Given the description of an element on the screen output the (x, y) to click on. 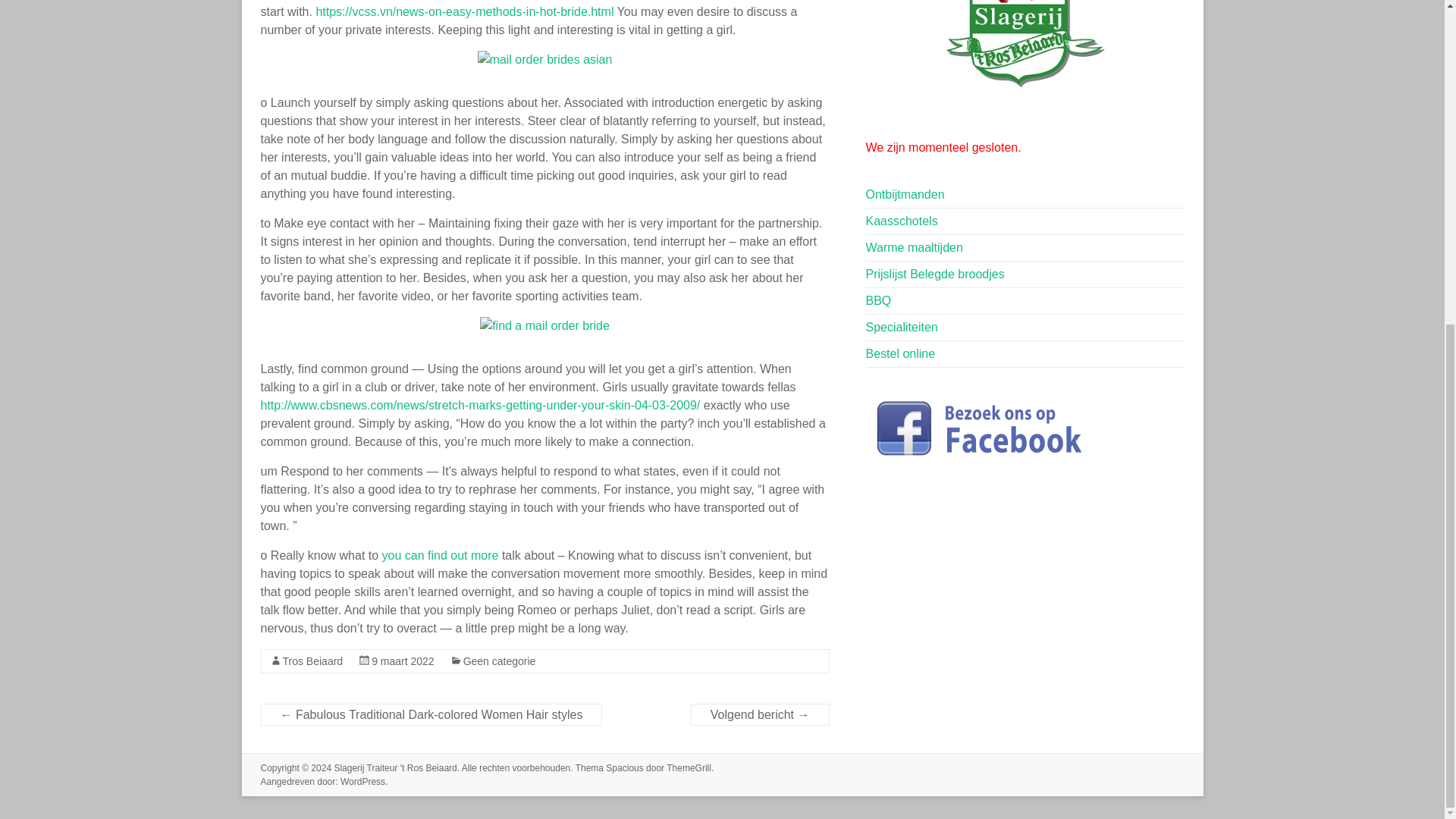
Kaasschotels (901, 220)
9 maart 2022 (402, 661)
Slagerij Traiteur 't Ros Beiaard (395, 767)
Ontbijtmanden (905, 194)
Spacious (624, 767)
Bestel online (901, 353)
Prijslijst Belegde broodjes (935, 273)
WordPress (362, 781)
Spacious (624, 767)
BBQ (878, 300)
